Given the description of an element on the screen output the (x, y) to click on. 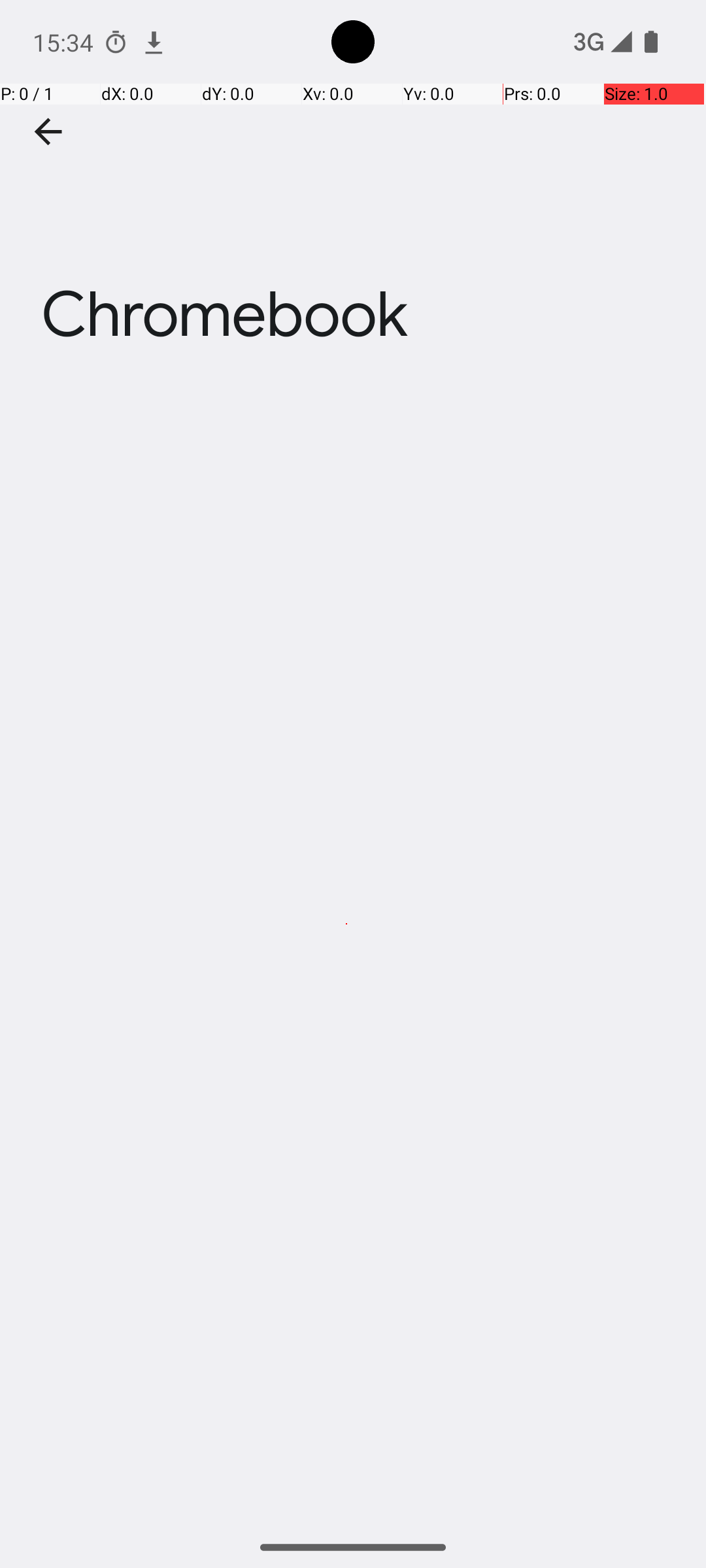
Chromebook Element type: android.widget.FrameLayout (353, 195)
